Given the description of an element on the screen output the (x, y) to click on. 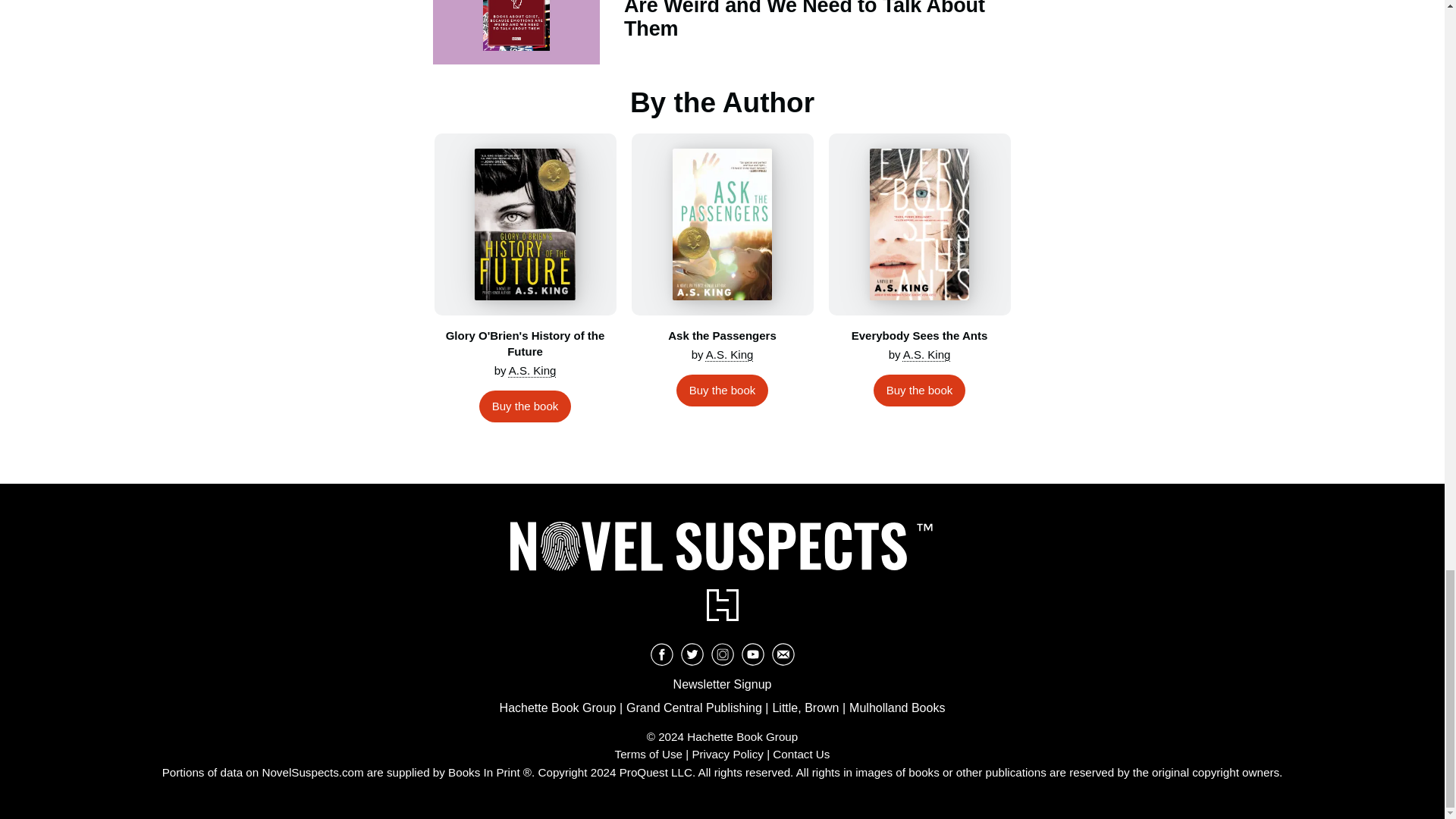
A.S. King (532, 369)
Buy the book (722, 390)
Ask the Passengers (721, 224)
Buy the book (525, 406)
Glory O'Brien's History of the Future (524, 224)
Everybody Sees the Ants (919, 224)
A.S. King (730, 354)
